Given the description of an element on the screen output the (x, y) to click on. 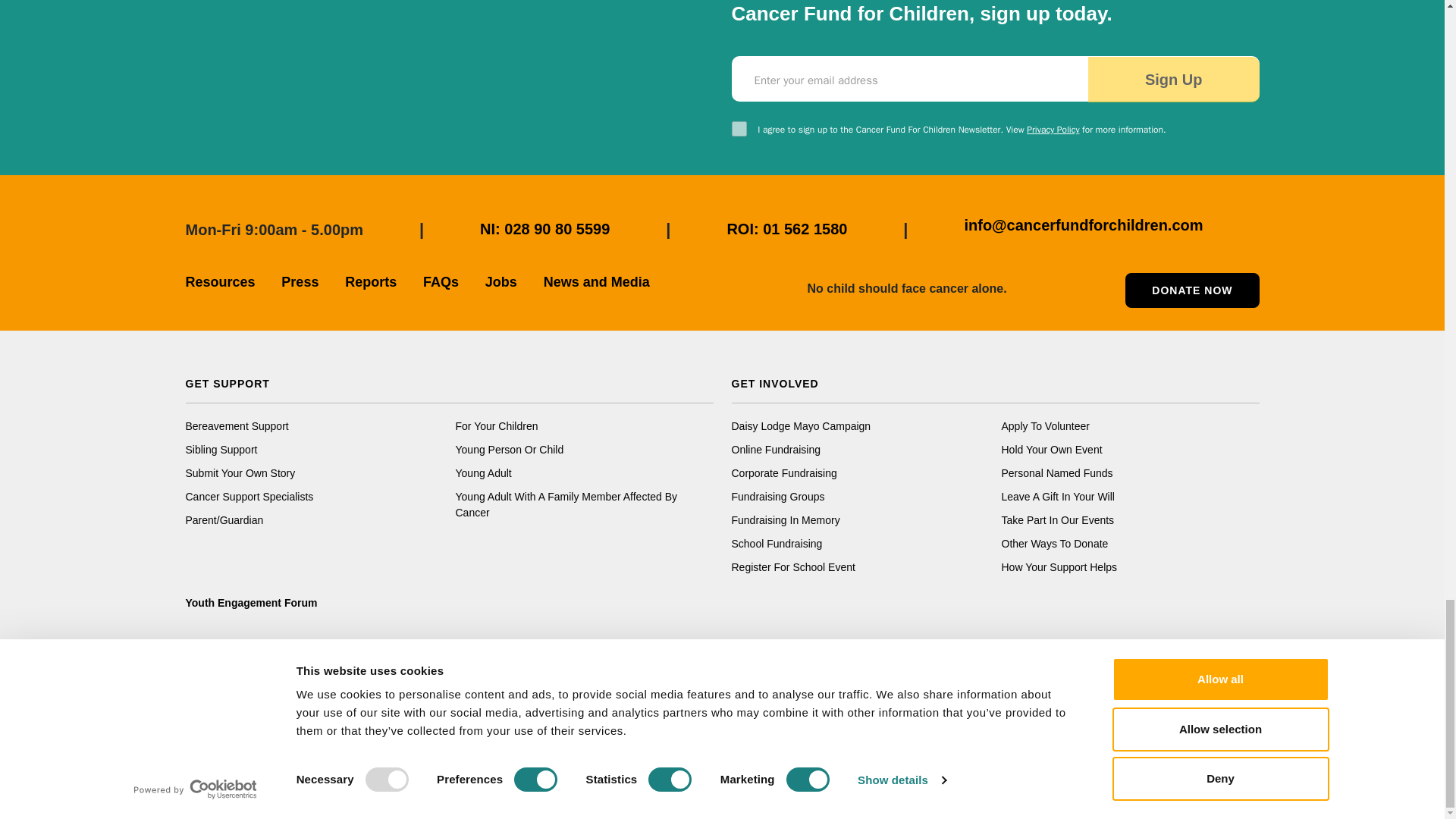
Sign Up (1173, 79)
1 (737, 128)
